Given the description of an element on the screen output the (x, y) to click on. 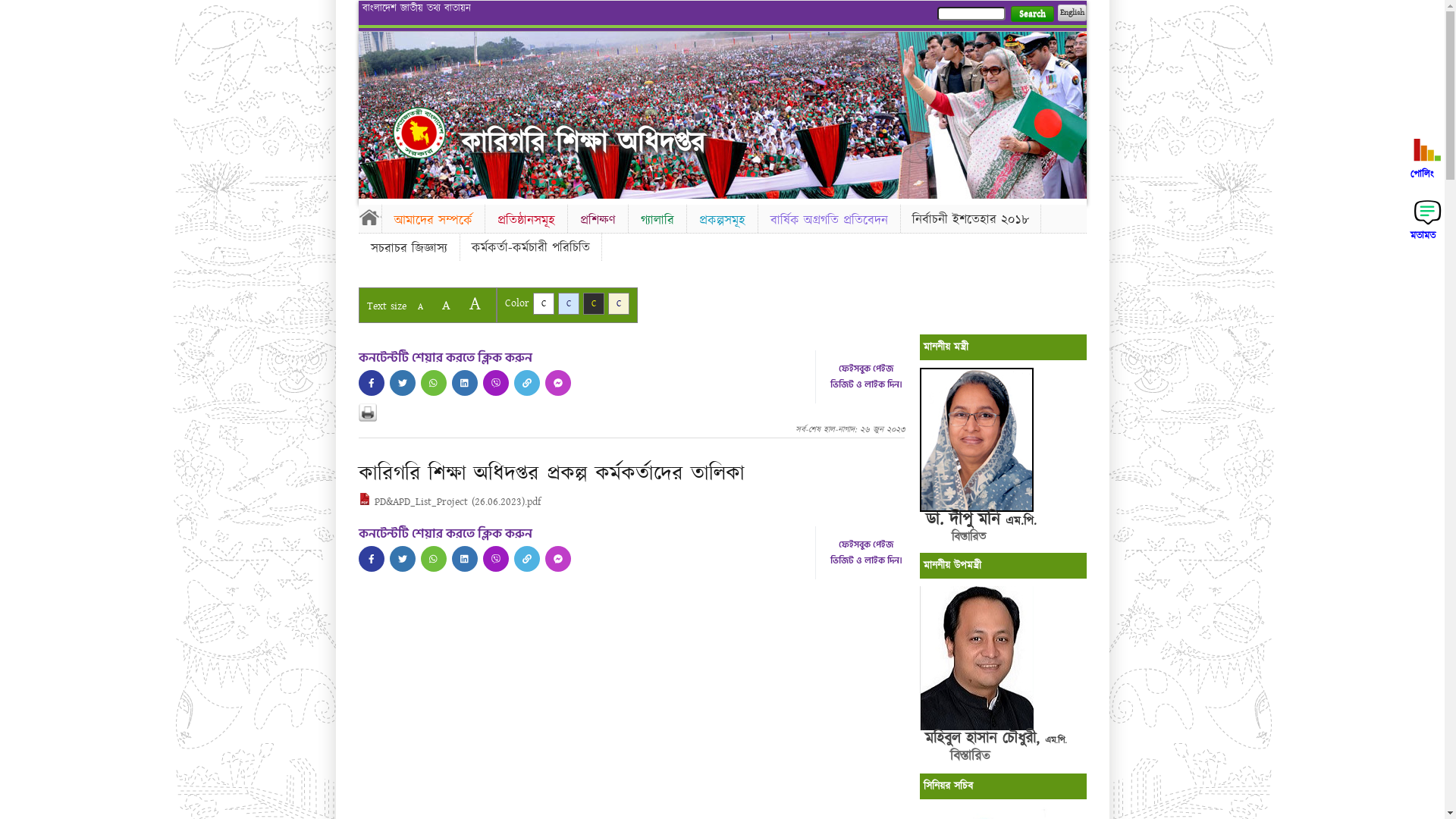
A Element type: text (445, 305)
C Element type: text (568, 303)
A Element type: text (474, 303)
Home Element type: hover (368, 216)
C Element type: text (618, 303)
PD&APD_List_Project (26.06.2023).pdf Element type: text (448, 501)
A Element type: text (419, 306)
Search Element type: text (1031, 13)
Home Element type: hover (418, 132)
C Element type: text (542, 303)
English Element type: text (1071, 12)
C Element type: text (592, 303)
